Given the description of an element on the screen output the (x, y) to click on. 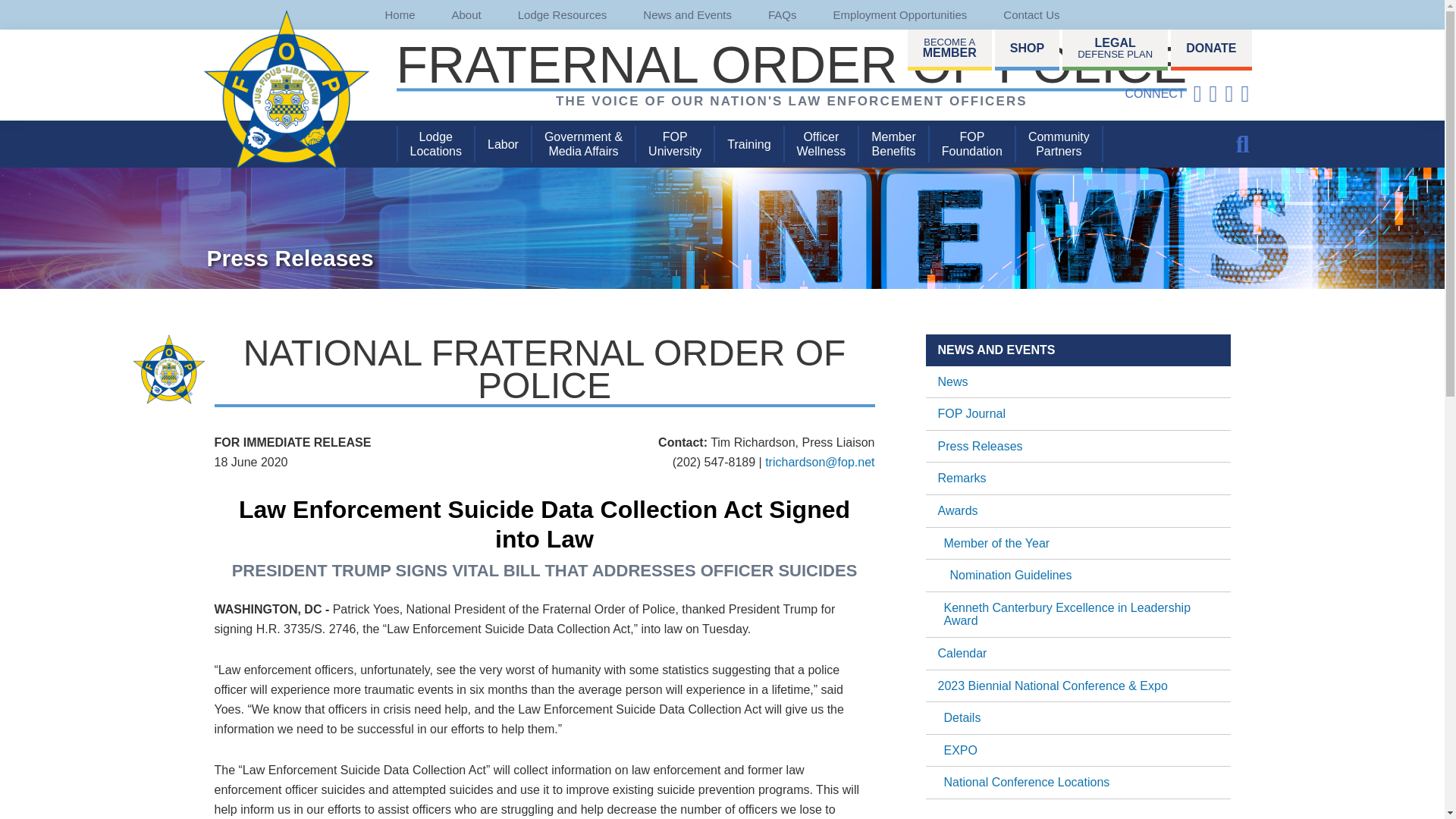
About (466, 14)
Employment Opportunities (900, 14)
News and Events (686, 14)
Lodge Resources (562, 14)
FAQs (782, 14)
Home (399, 14)
